Given the description of an element on the screen output the (x, y) to click on. 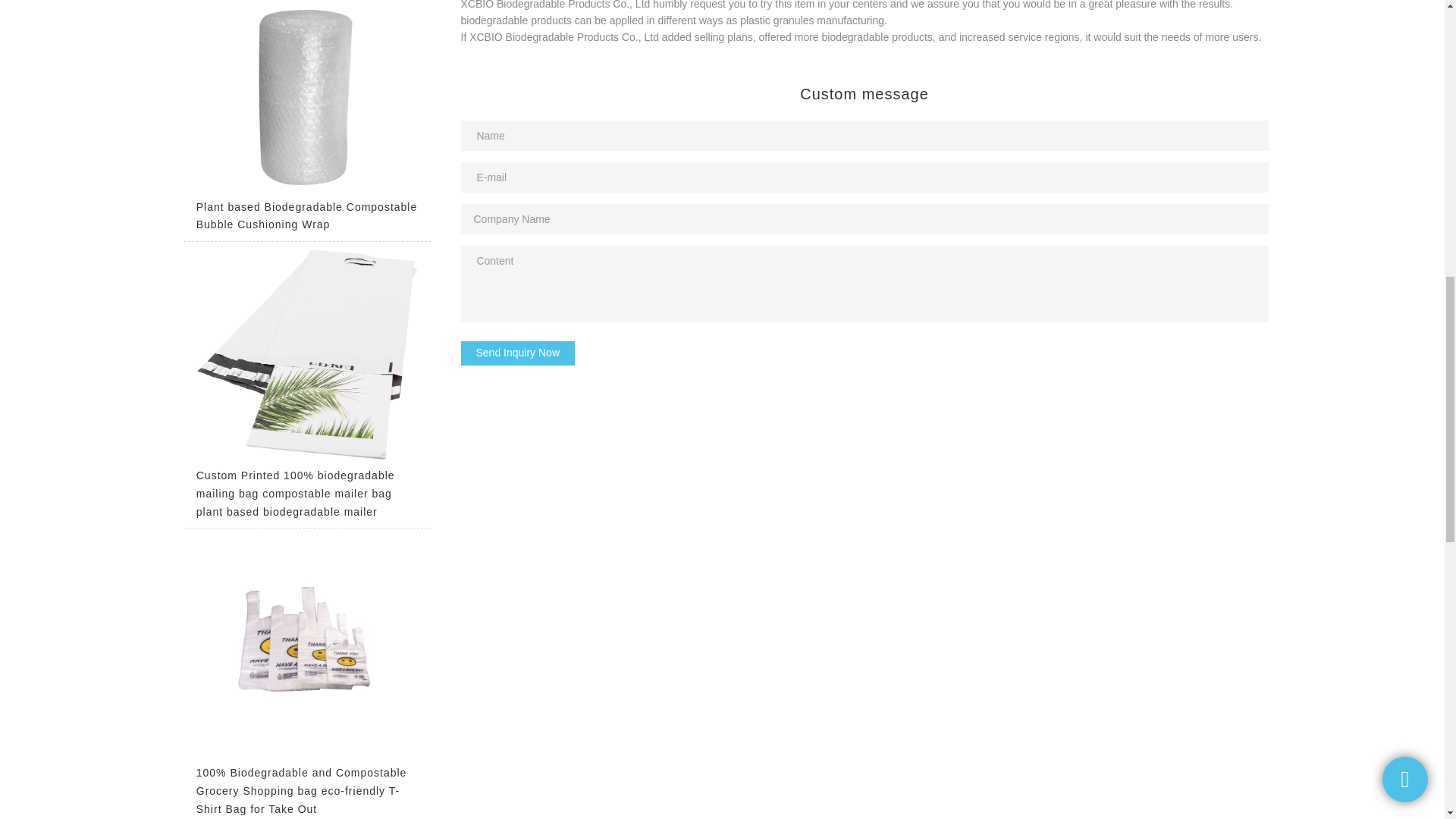
Plant based Biodegradable Compostable Bubble Cushioning Wrap (306, 120)
Send Inquiry Now (518, 353)
